Given the description of an element on the screen output the (x, y) to click on. 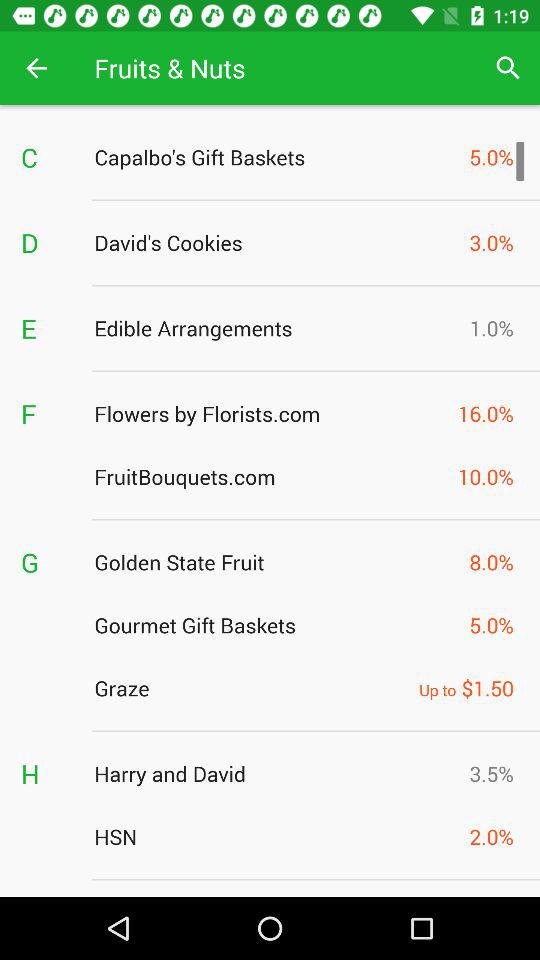
click icon to the left of the up to 1 item (251, 688)
